Given the description of an element on the screen output the (x, y) to click on. 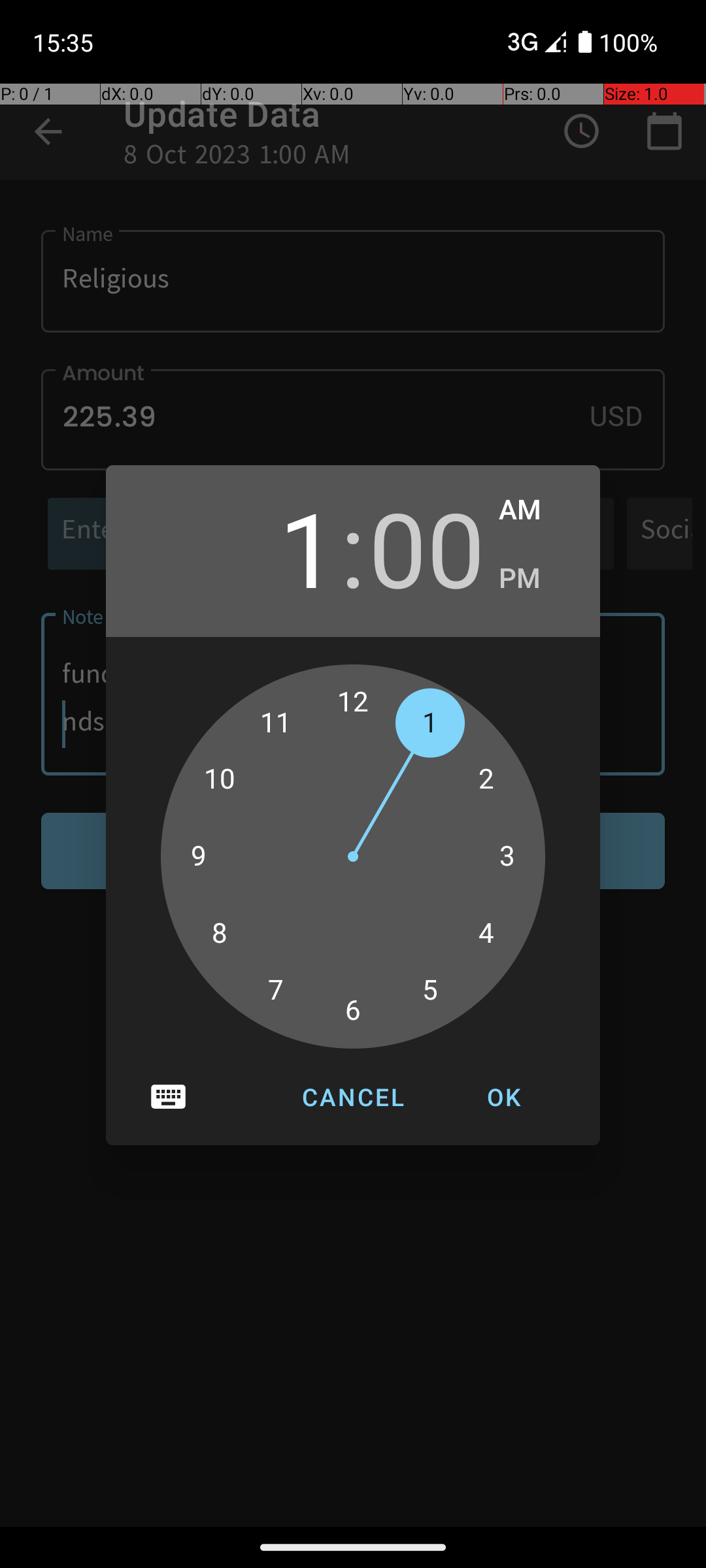
AM Element type: android.widget.RadioButton (535, 510)
PM Element type: android.widget.RadioButton (535, 578)
